Given the description of an element on the screen output the (x, y) to click on. 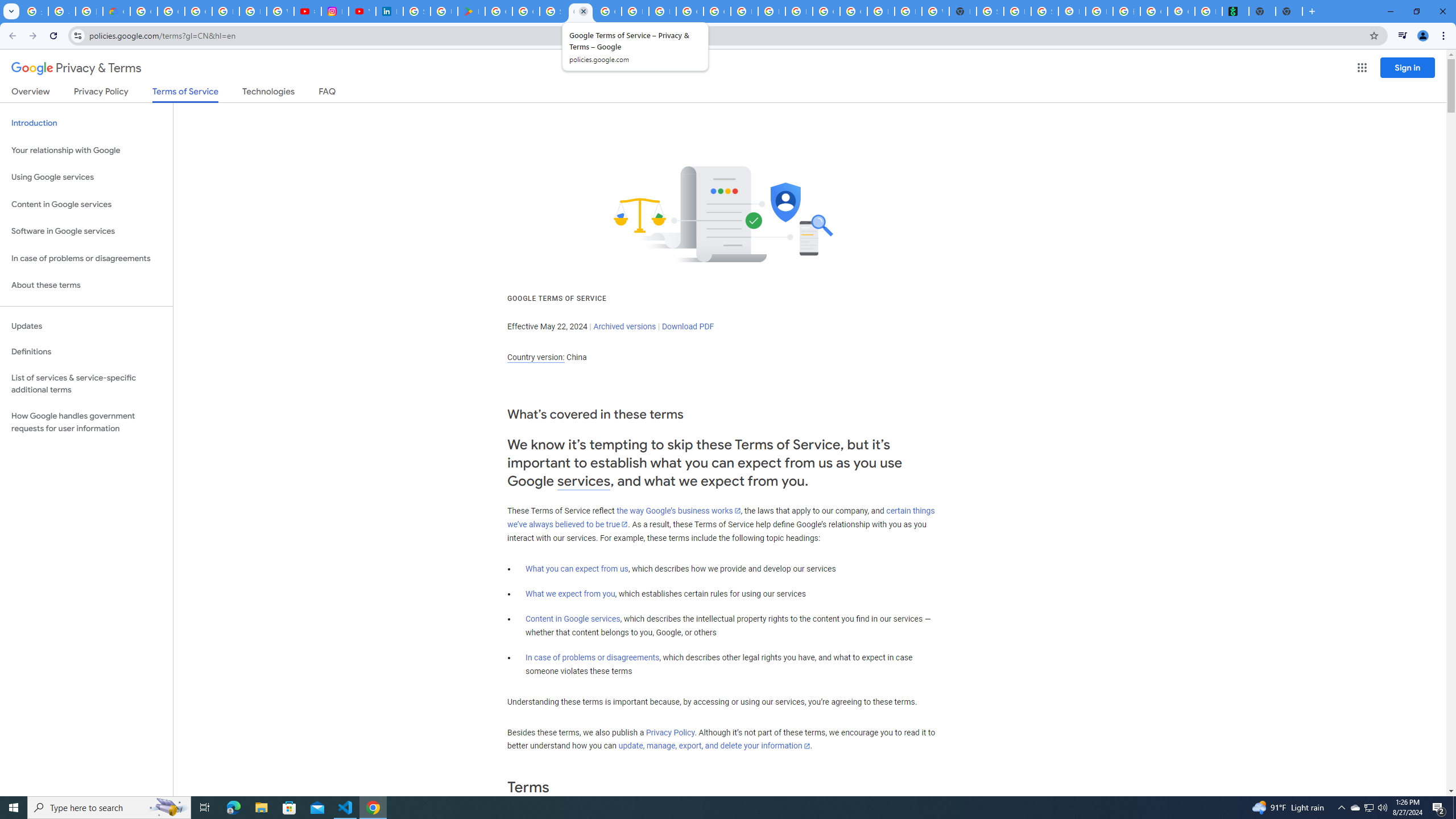
Google Cloud Platform (826, 11)
How Google handles government requests for user information (86, 422)
Country version: (535, 357)
Google Workspace - Specific Terms (525, 11)
What you can expect from us (576, 568)
YouTube Culture & Trends - On The Rise: Handcam Videos (362, 11)
